Given the description of an element on the screen output the (x, y) to click on. 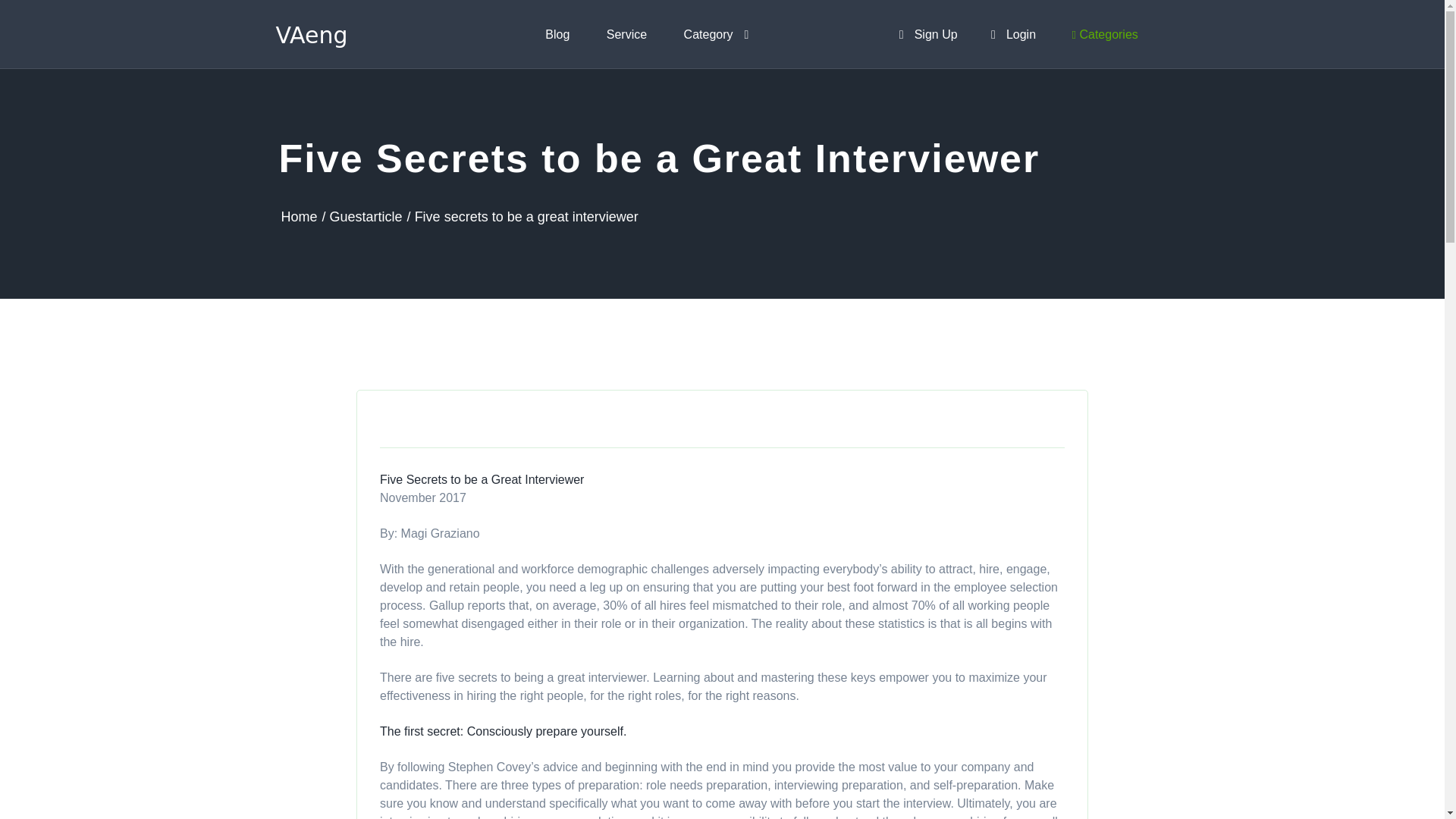
VAeng (314, 33)
Category (716, 34)
